Given the description of an element on the screen output the (x, y) to click on. 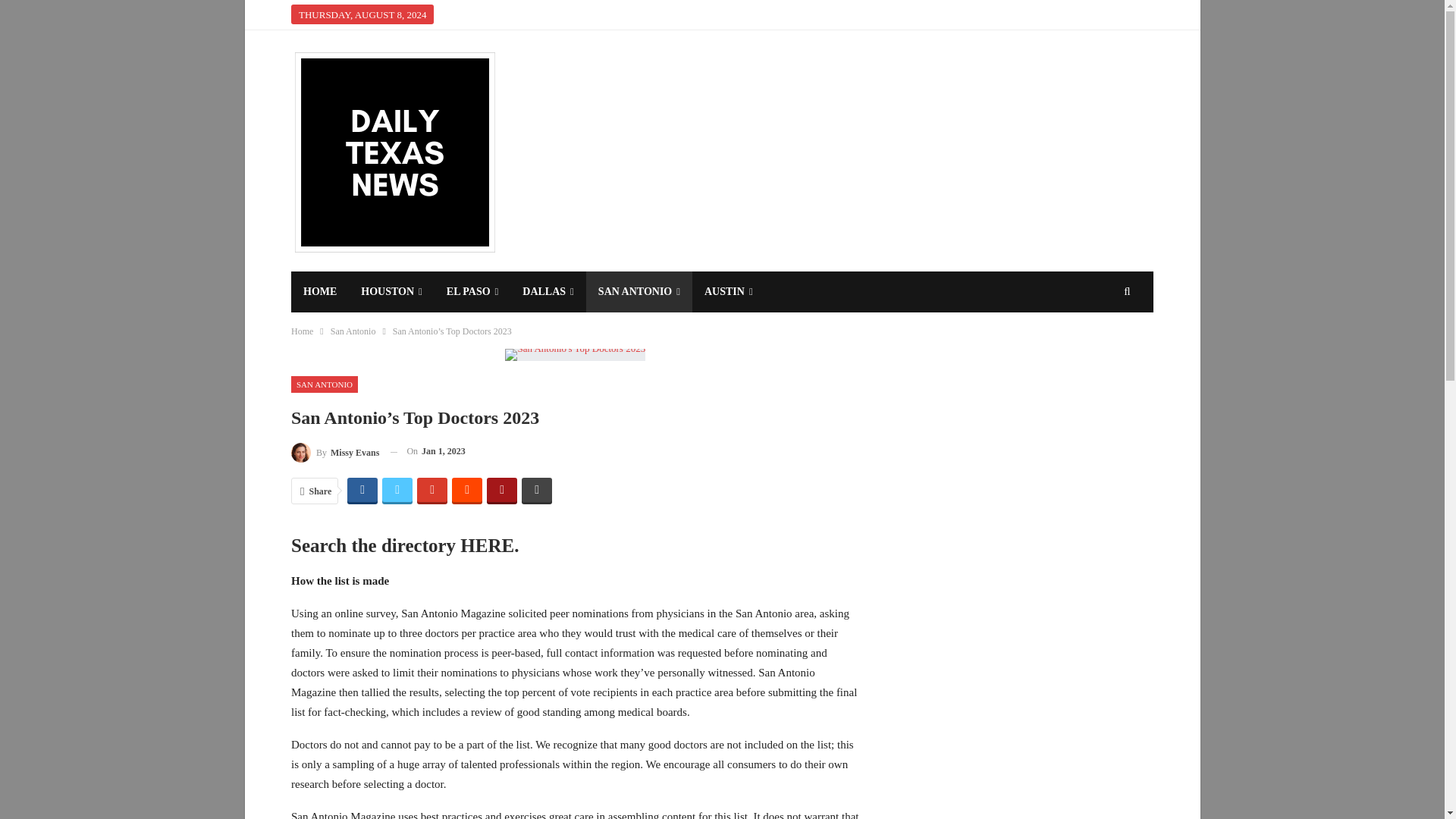
DALLAS (548, 291)
HOUSTON (391, 291)
HOME (320, 291)
SAN ANTONIO (639, 291)
EL PASO (472, 291)
